Given the description of an element on the screen output the (x, y) to click on. 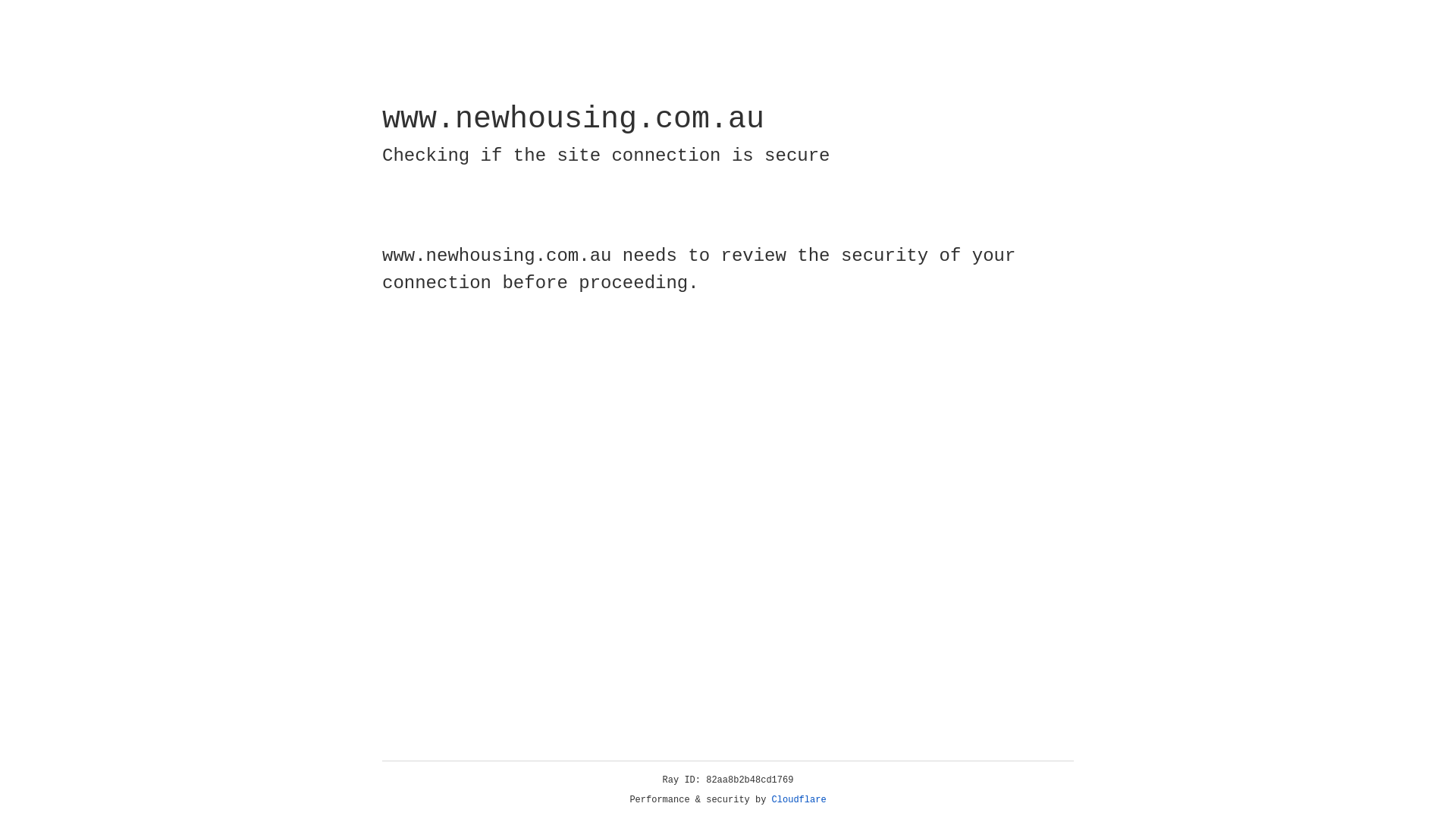
Cloudflare Element type: text (798, 799)
